Given the description of an element on the screen output the (x, y) to click on. 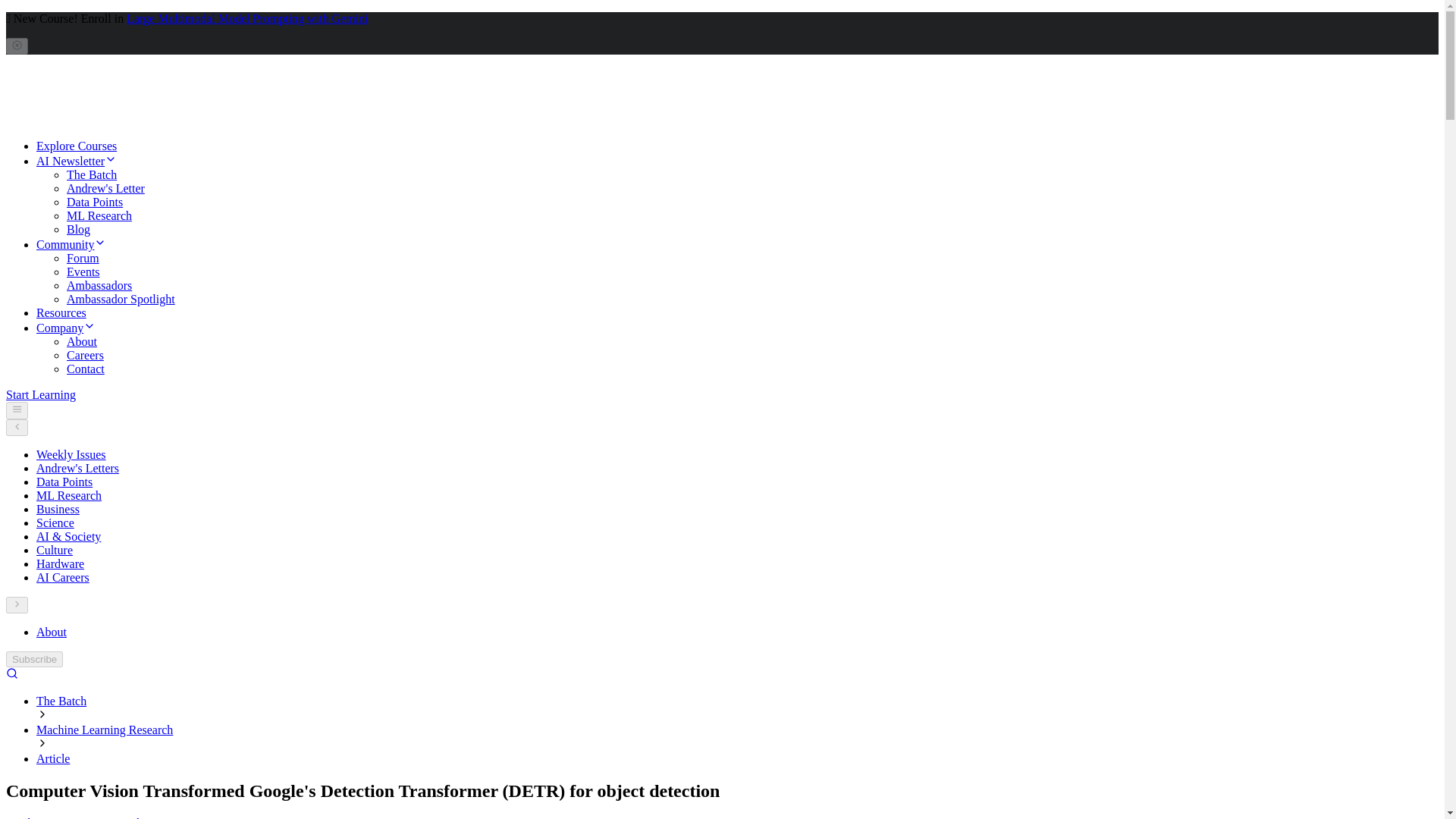
Subscribe (33, 659)
Large Multimodal Model Prompting with Gemini (247, 18)
Start Learning (40, 394)
